Given the description of an element on the screen output the (x, y) to click on. 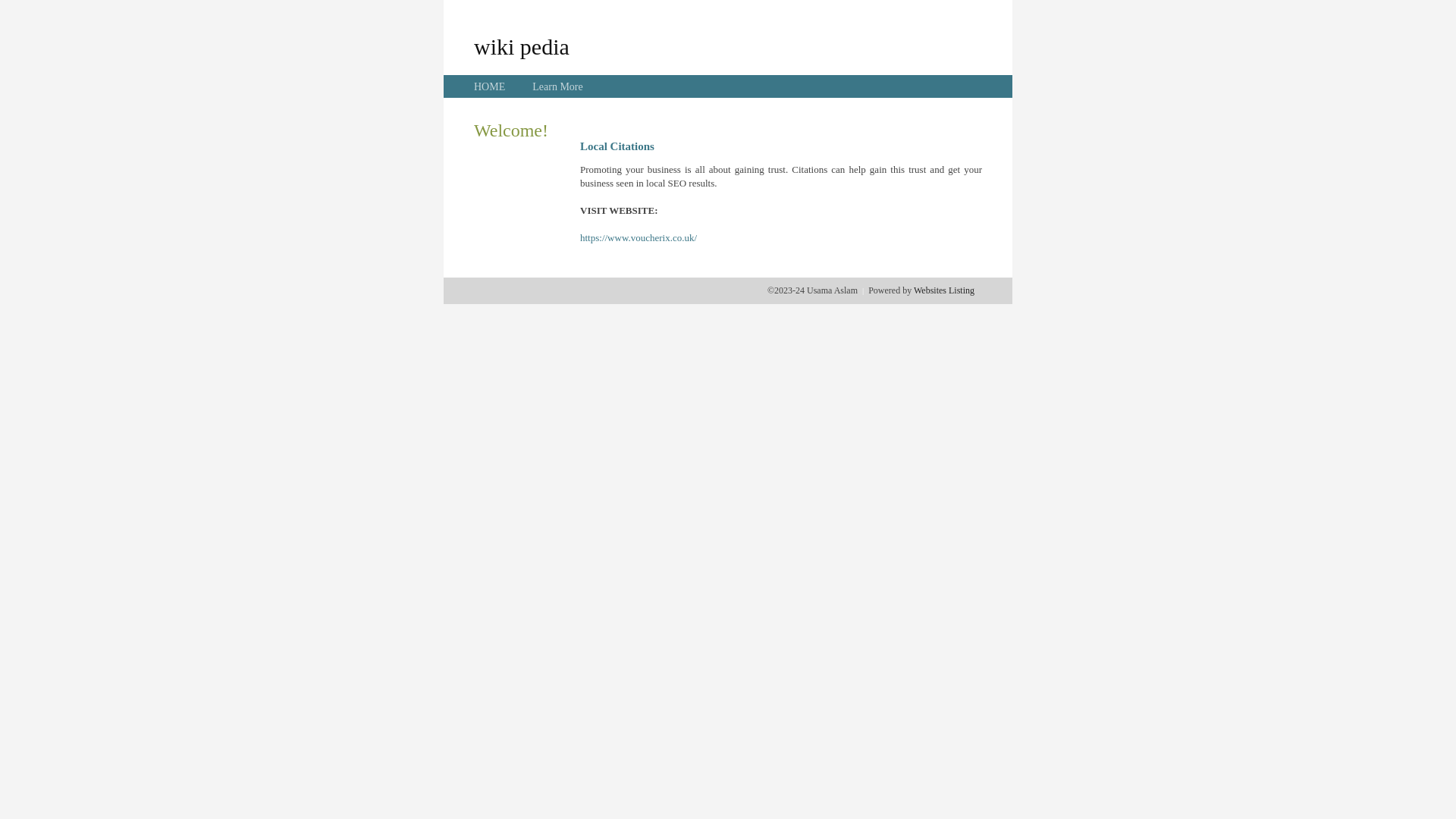
Learn More Element type: text (557, 86)
Websites Listing Element type: text (943, 290)
wiki pedia Element type: text (521, 46)
https://www.voucherix.co.uk/ Element type: text (638, 237)
HOME Element type: text (489, 86)
